Given the description of an element on the screen output the (x, y) to click on. 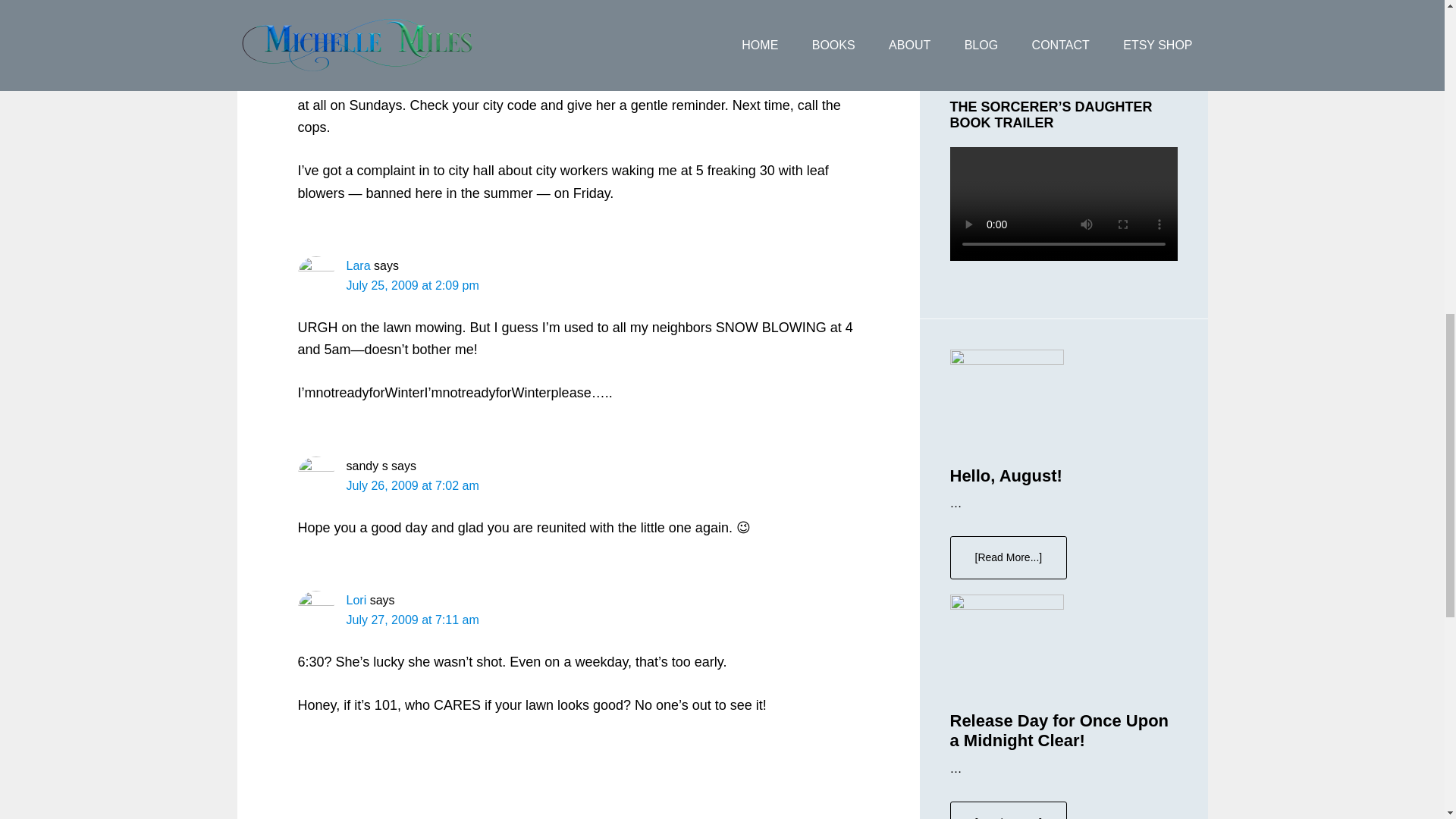
July 25, 2009 at 8:58 am (412, 41)
Devon Ellington (388, 21)
July 25, 2009 at 2:09 pm (412, 285)
July 26, 2009 at 7:02 am (412, 485)
Lara (357, 265)
Lori (356, 599)
